Given the description of an element on the screen output the (x, y) to click on. 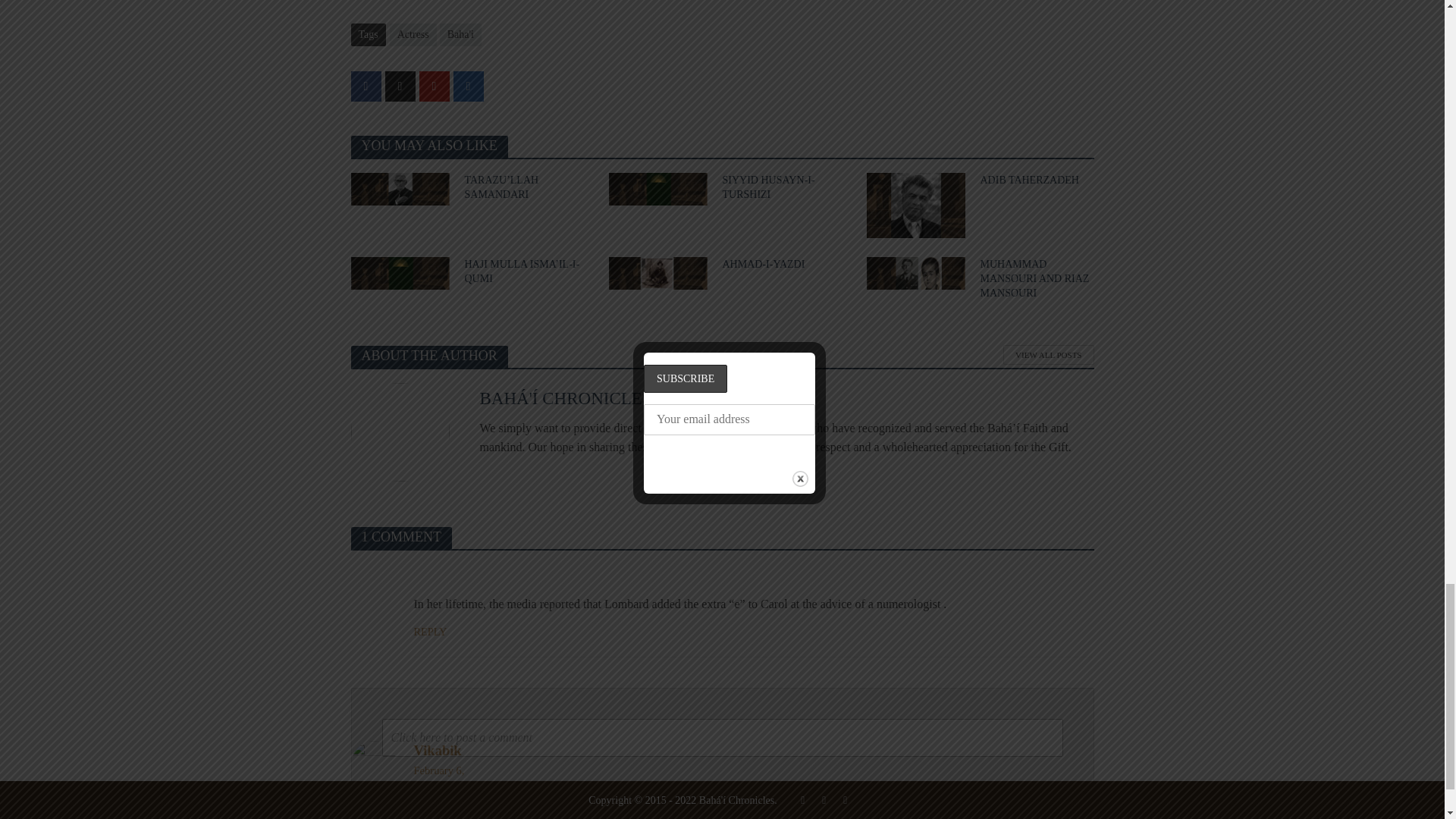
Ahmad-i-Yazdi (657, 271)
Muhammad Mansouri and Riaz Mansouri (914, 271)
Siyyid Husayn-i-Turshizi (657, 187)
Adib Taherzadeh (914, 203)
